Given the description of an element on the screen output the (x, y) to click on. 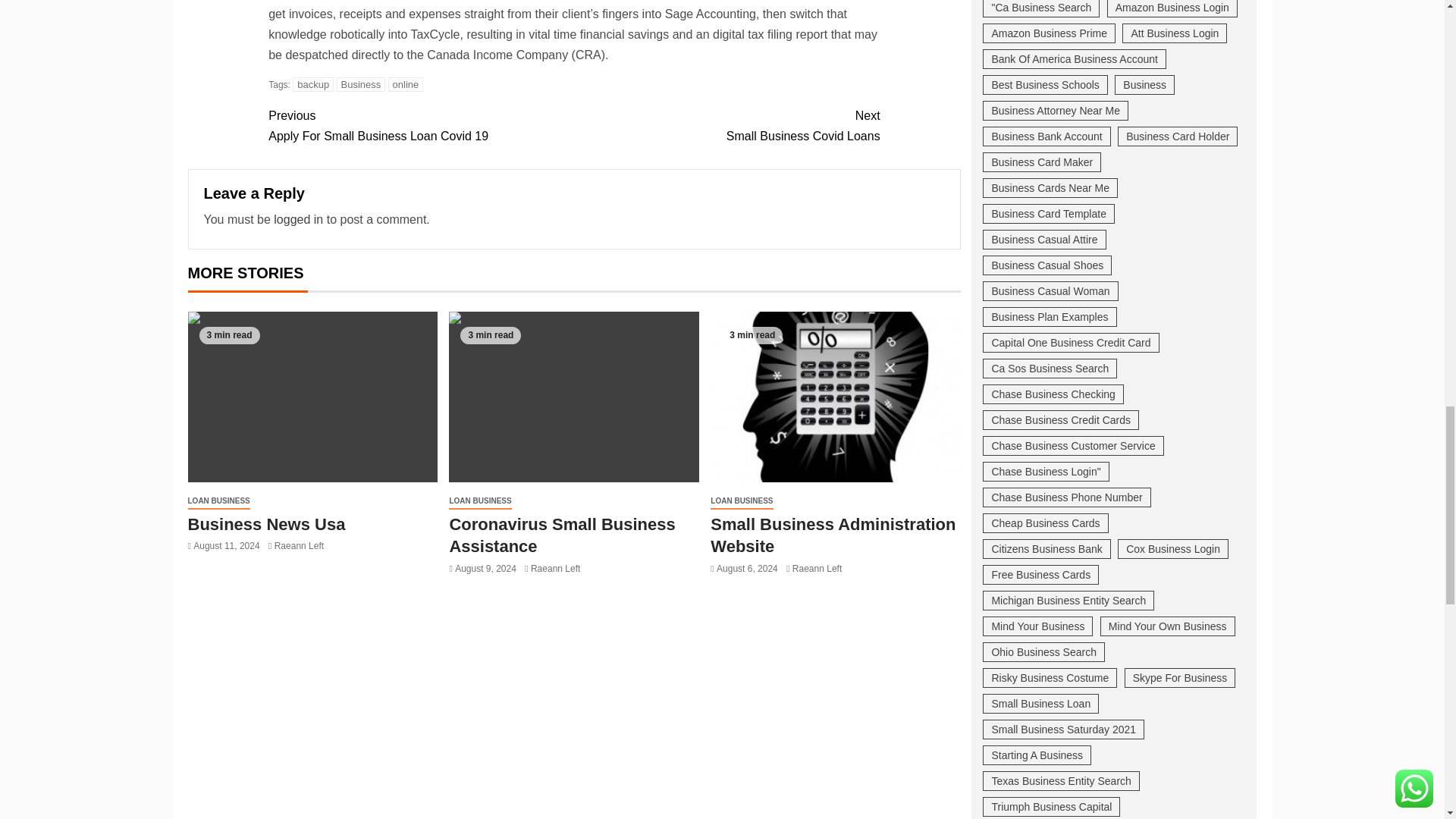
Business News Usa (312, 397)
backup (312, 83)
Business (360, 83)
Small Business Administration Website (835, 397)
Coronavirus Small Business Assistance (726, 125)
online (573, 397)
